Given the description of an element on the screen output the (x, y) to click on. 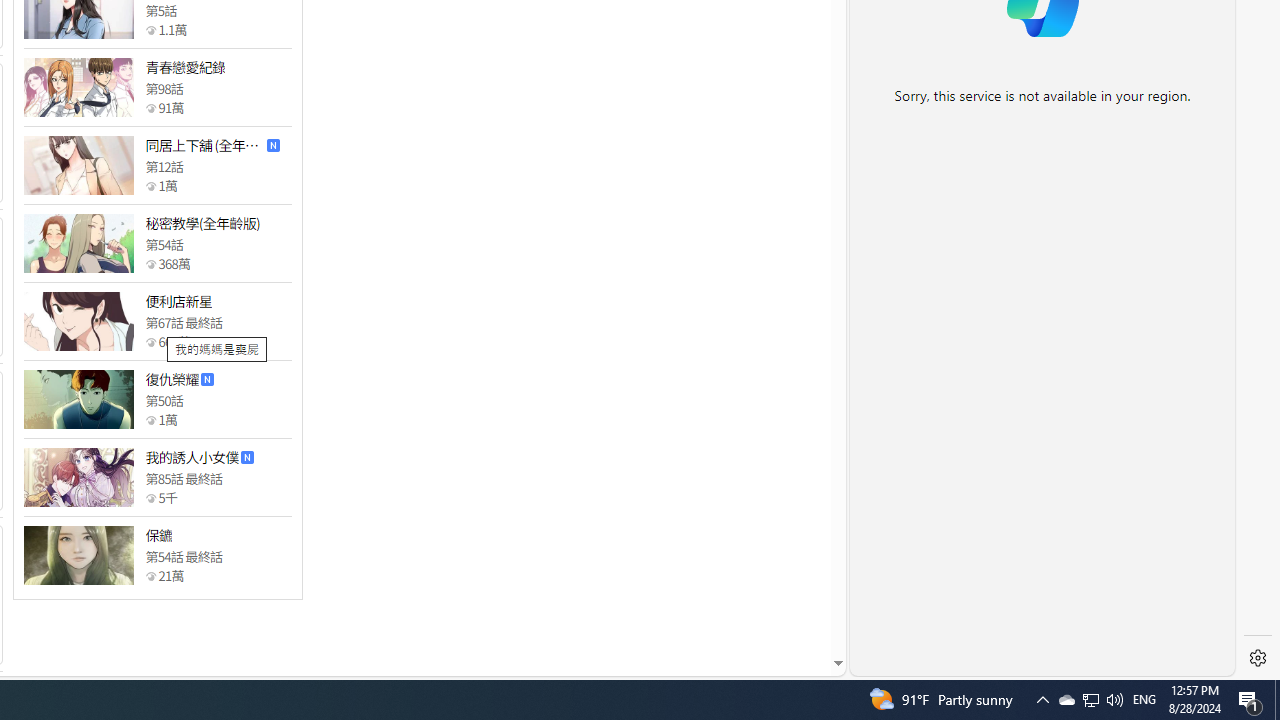
Class: epicon_starpoint (150, 575)
